Given the description of an element on the screen output the (x, y) to click on. 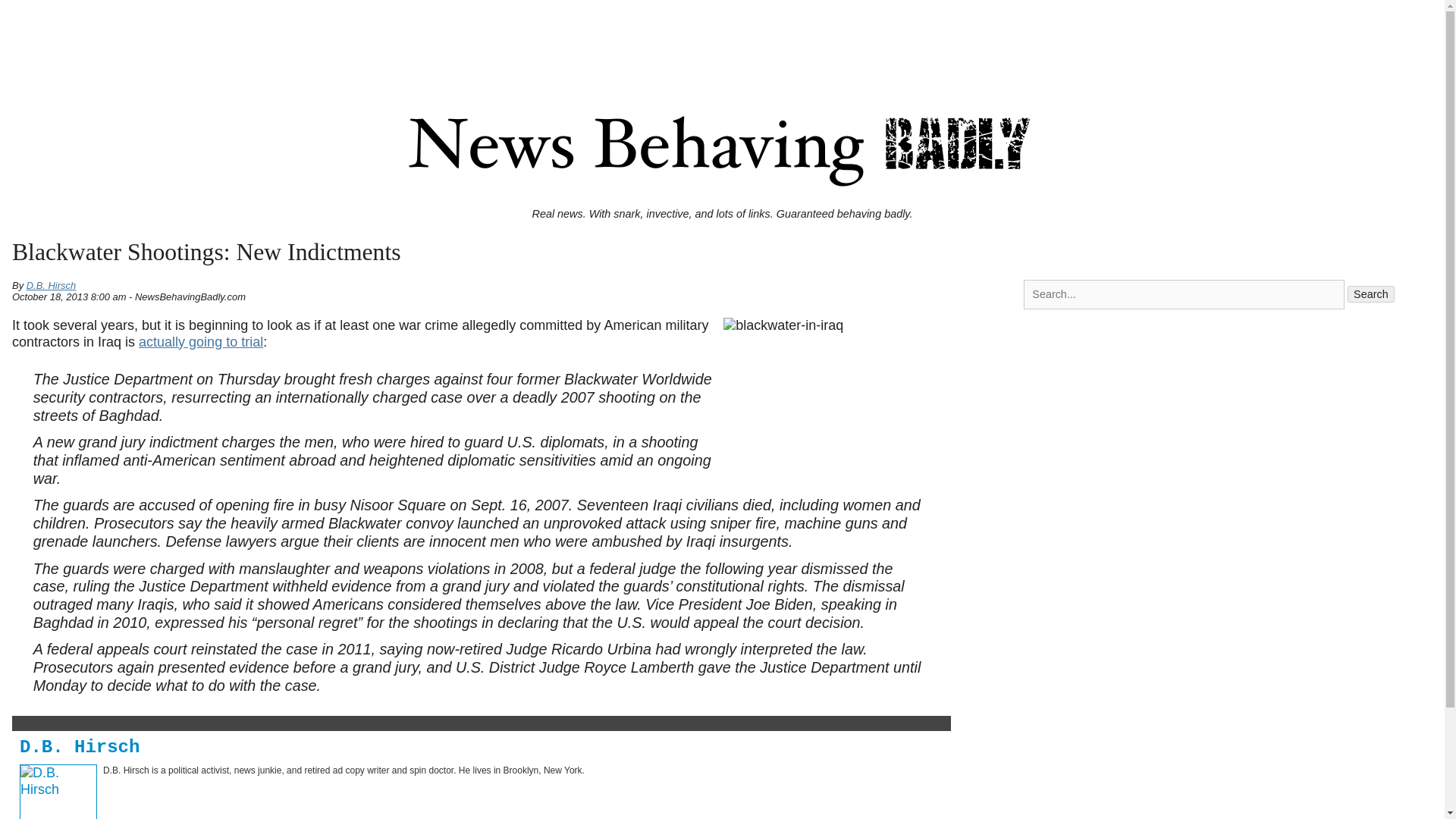
Search for: (1184, 294)
Search (1371, 293)
actually going to trial (200, 341)
D.B. Hirsch (51, 284)
Advertisement (721, 39)
Search (1371, 293)
D.B. Hirsch (79, 747)
D.B. Hirsch (79, 747)
Search (1371, 293)
Advertisement (1227, 450)
